Given the description of an element on the screen output the (x, y) to click on. 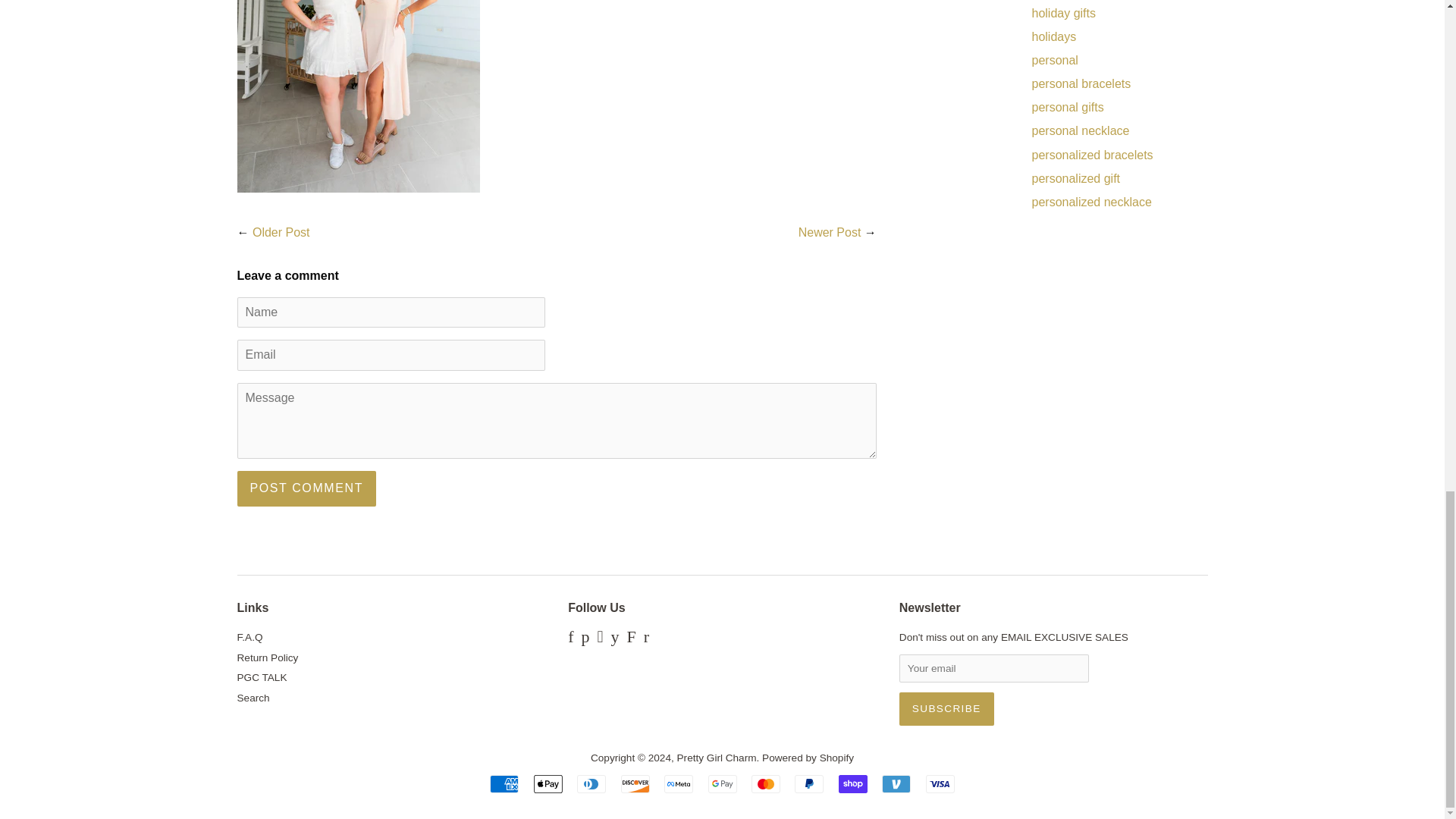
Subscribe (946, 708)
Google Pay (721, 783)
Shop Pay (852, 783)
Visa (940, 783)
Discover (635, 783)
Apple Pay (548, 783)
Show articles tagged personalized necklace (1090, 201)
Show articles tagged personal (1053, 60)
Show articles tagged holidays (1052, 36)
Show articles tagged personal gifts (1066, 106)
